Given the description of an element on the screen output the (x, y) to click on. 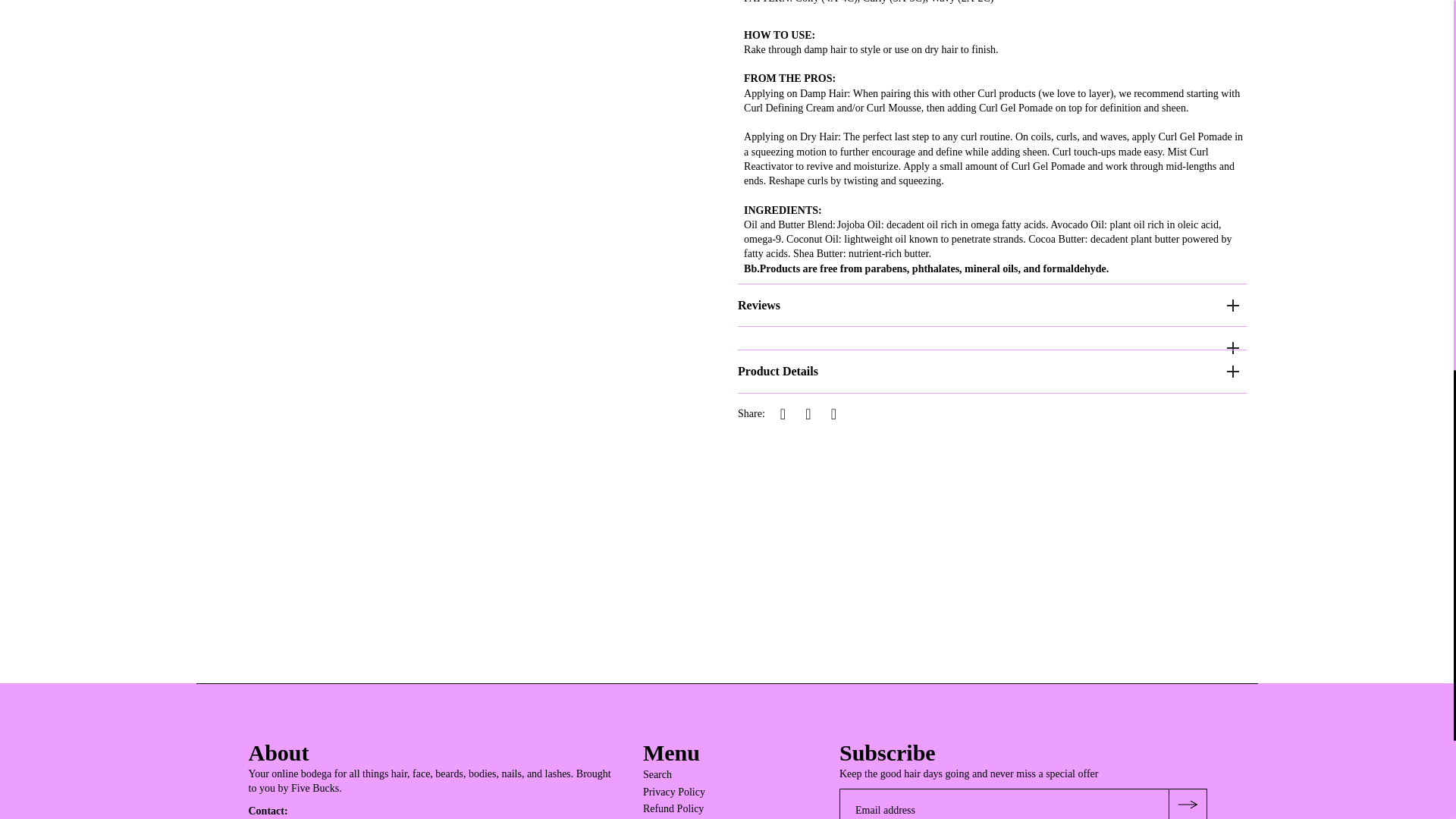
Share on Facebook (782, 413)
Share on Twitter (807, 413)
Share on Pinterest (833, 413)
